Given the description of an element on the screen output the (x, y) to click on. 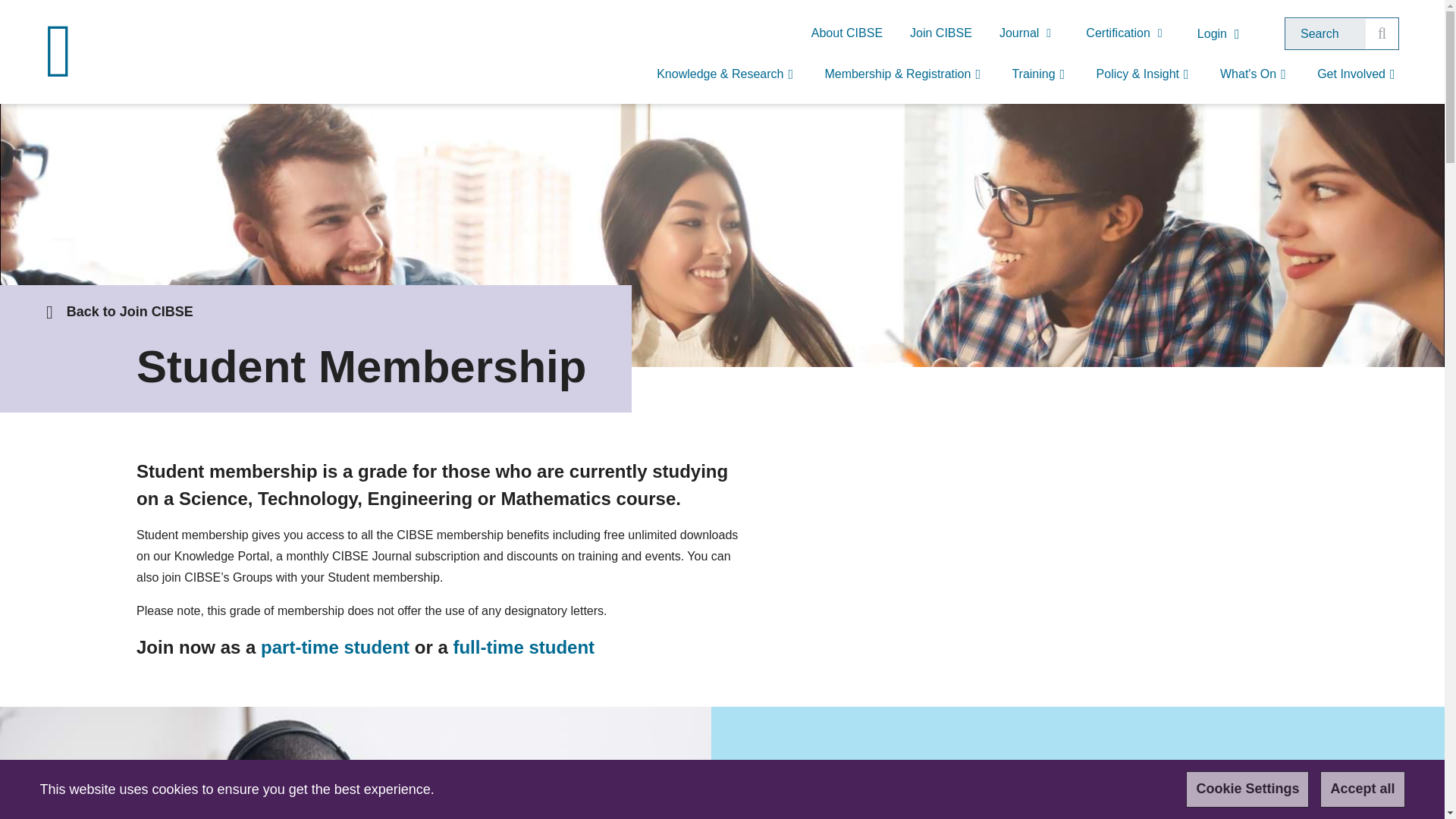
Login (1222, 34)
Journal (1028, 33)
Join CIBSE (940, 33)
Certification (1126, 33)
About CIBSE (846, 33)
